Given the description of an element on the screen output the (x, y) to click on. 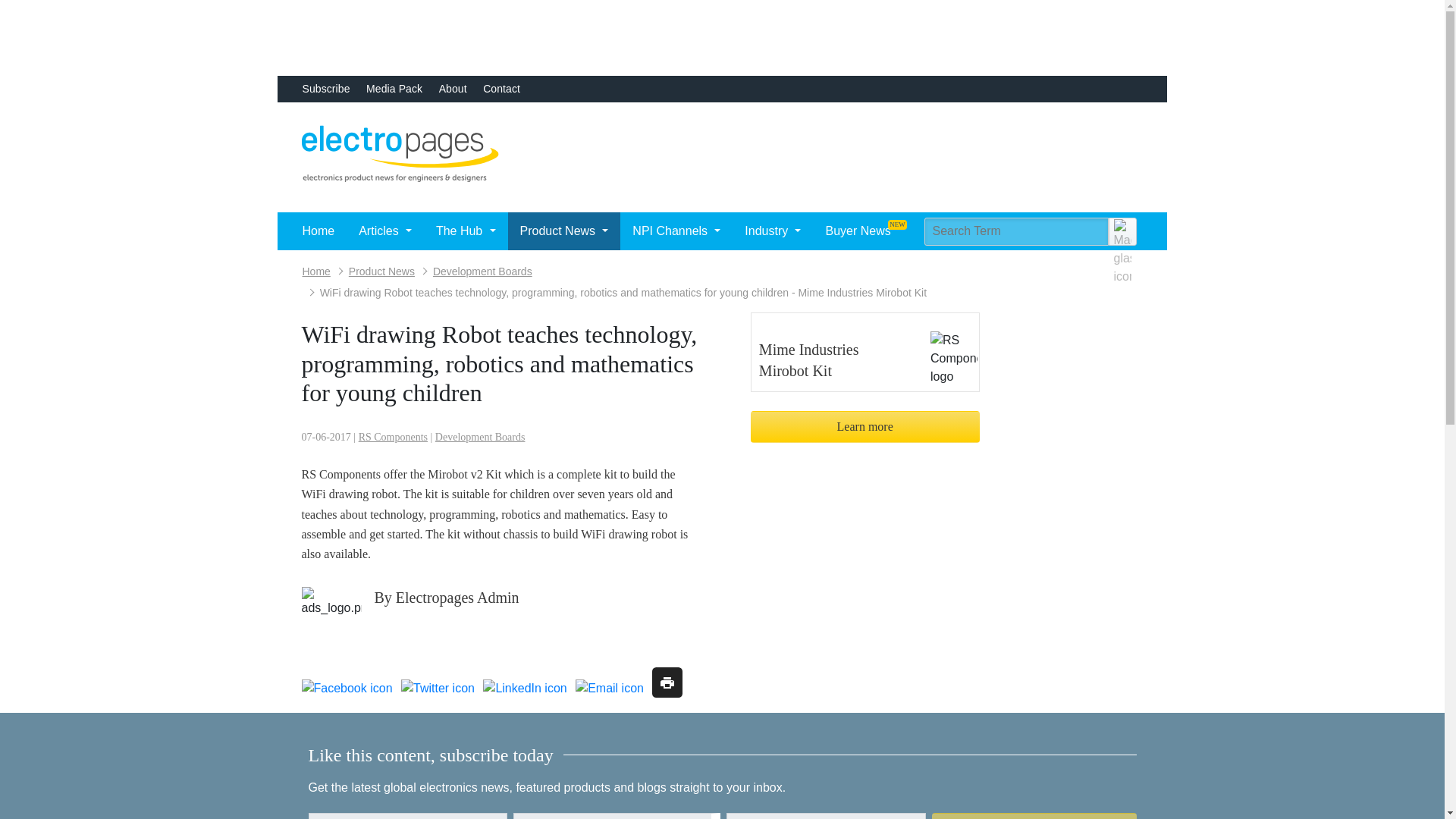
Product News (564, 231)
Share on Twitter (437, 688)
Subscribe (325, 88)
Contact (501, 88)
Home (317, 231)
About (453, 88)
Share on LinkedIn (524, 688)
Send with Email (609, 688)
Media Pack (394, 88)
Share on Facebook (347, 688)
